Given the description of an element on the screen output the (x, y) to click on. 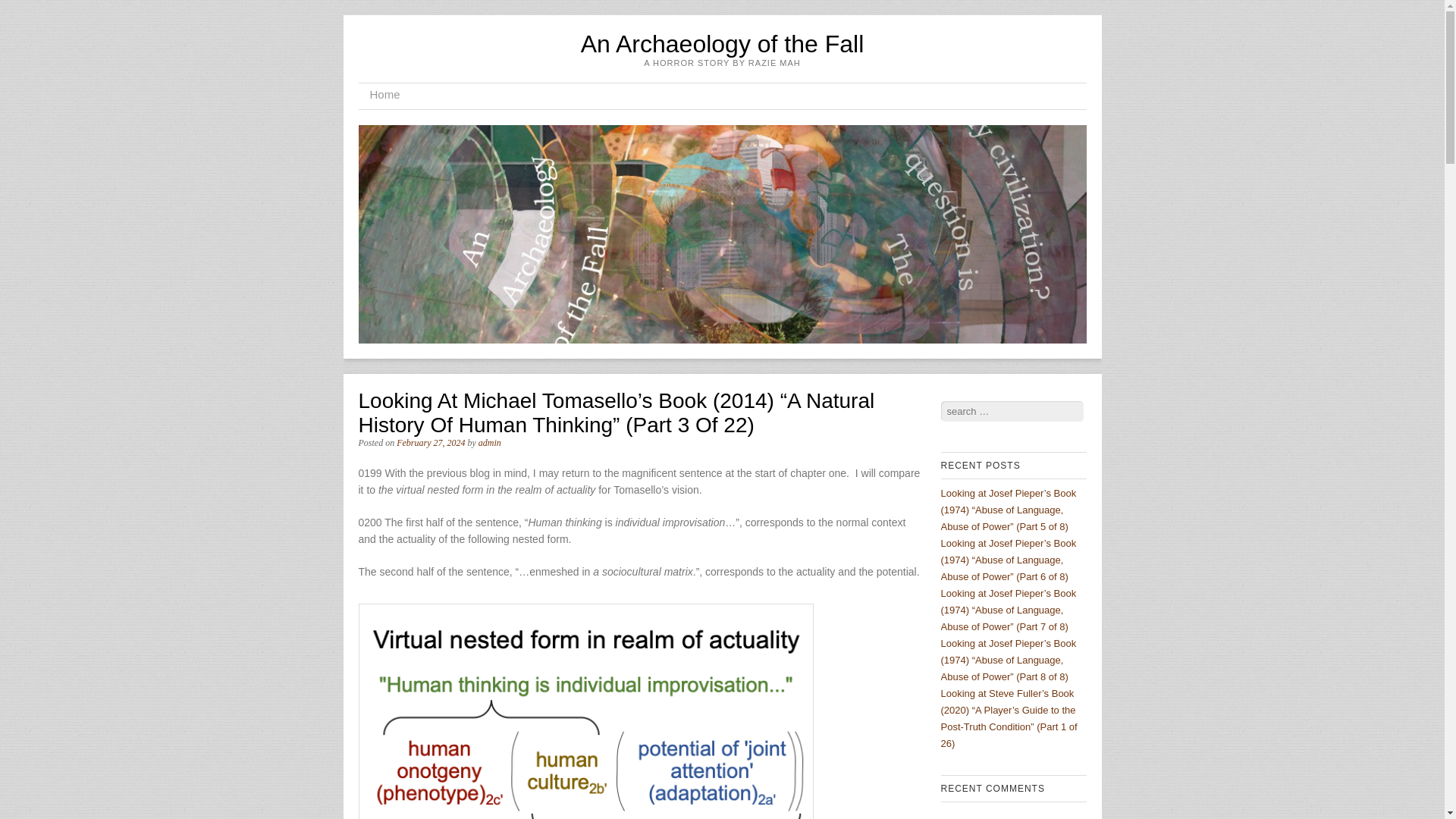
Skip to content (406, 95)
8:00 am (430, 442)
February 27, 2024 (430, 442)
Skip to content (406, 95)
Home (384, 95)
View all posts by admin (489, 442)
An Archaeology of the Fall (722, 43)
admin (489, 442)
An Archaeology of the Fall (722, 43)
